Given the description of an element on the screen output the (x, y) to click on. 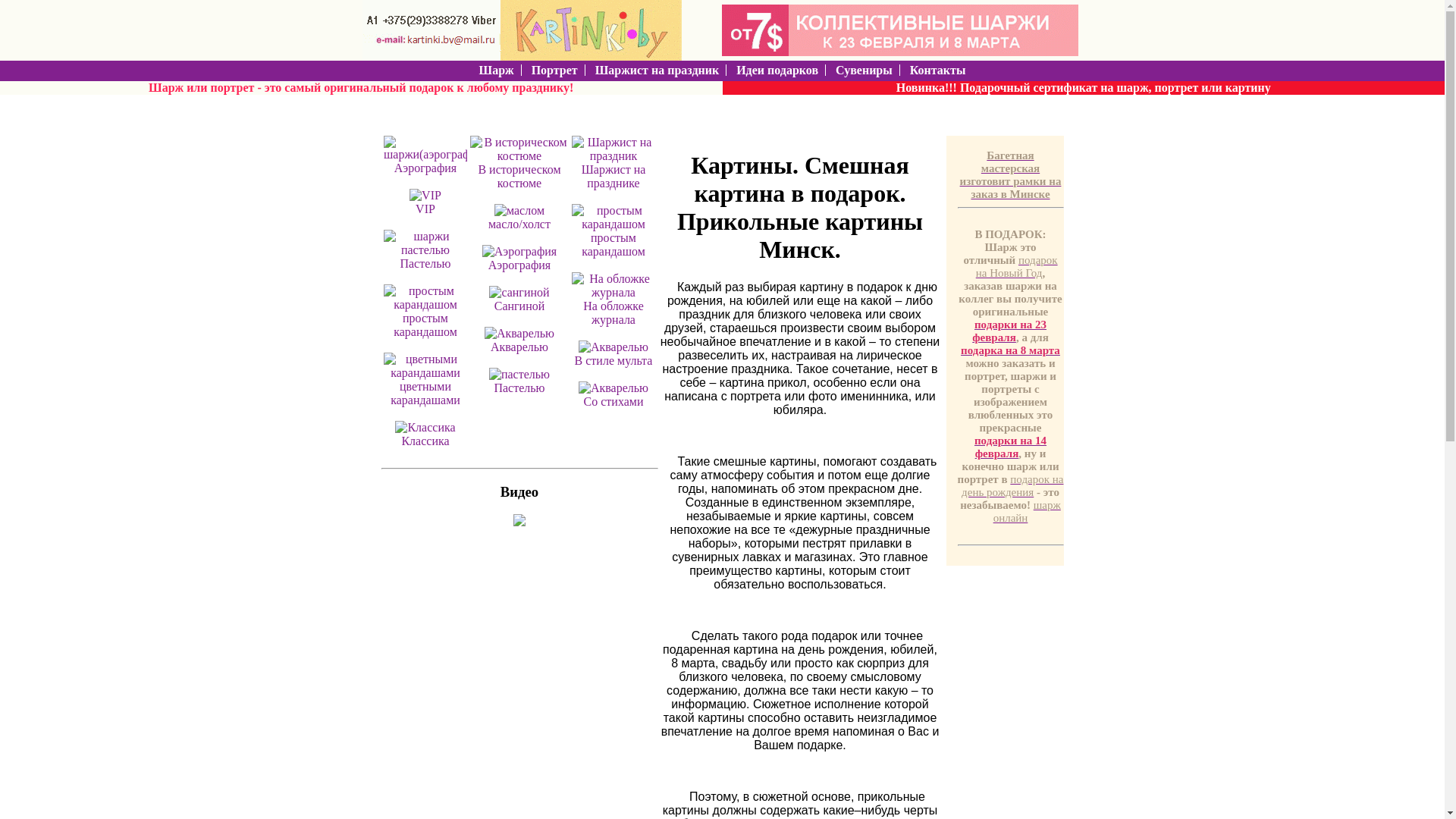
VIP Element type: text (425, 208)
